Given the description of an element on the screen output the (x, y) to click on. 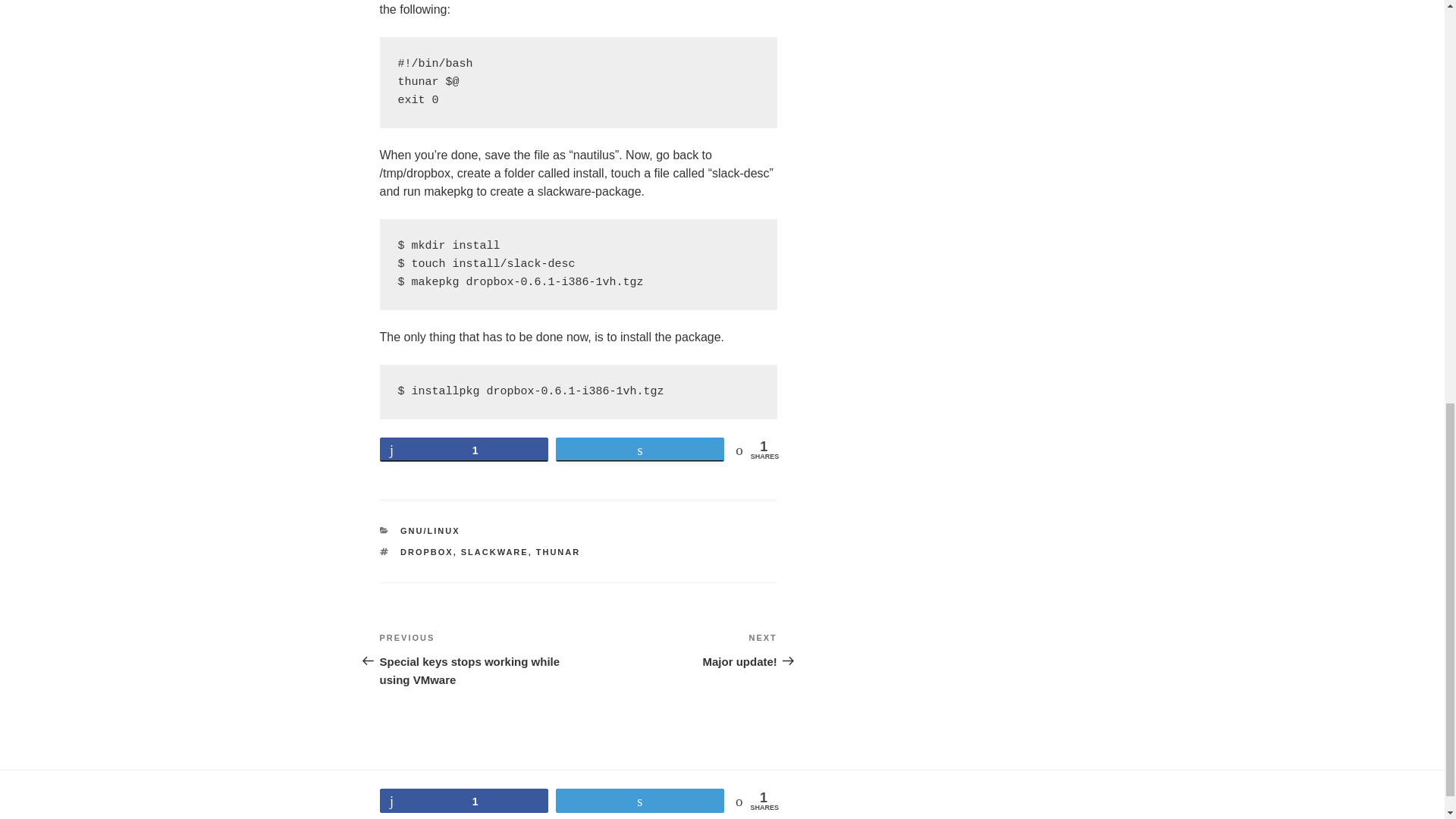
SLACKWARE (494, 551)
Proudly powered by WordPress (449, 806)
THUNAR (557, 551)
1 (677, 649)
DROPBOX (463, 449)
